Given the description of an element on the screen output the (x, y) to click on. 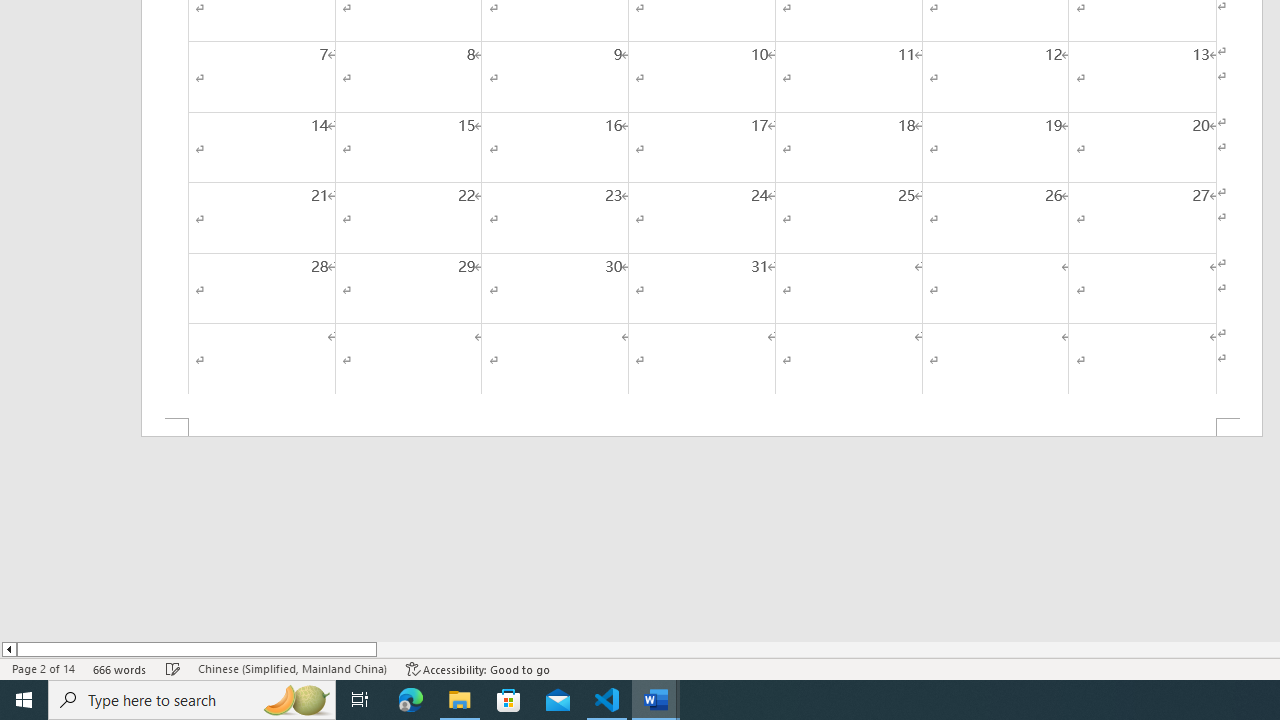
Column left (8, 649)
Page Number Page 2 of 14 (43, 668)
